Given the description of an element on the screen output the (x, y) to click on. 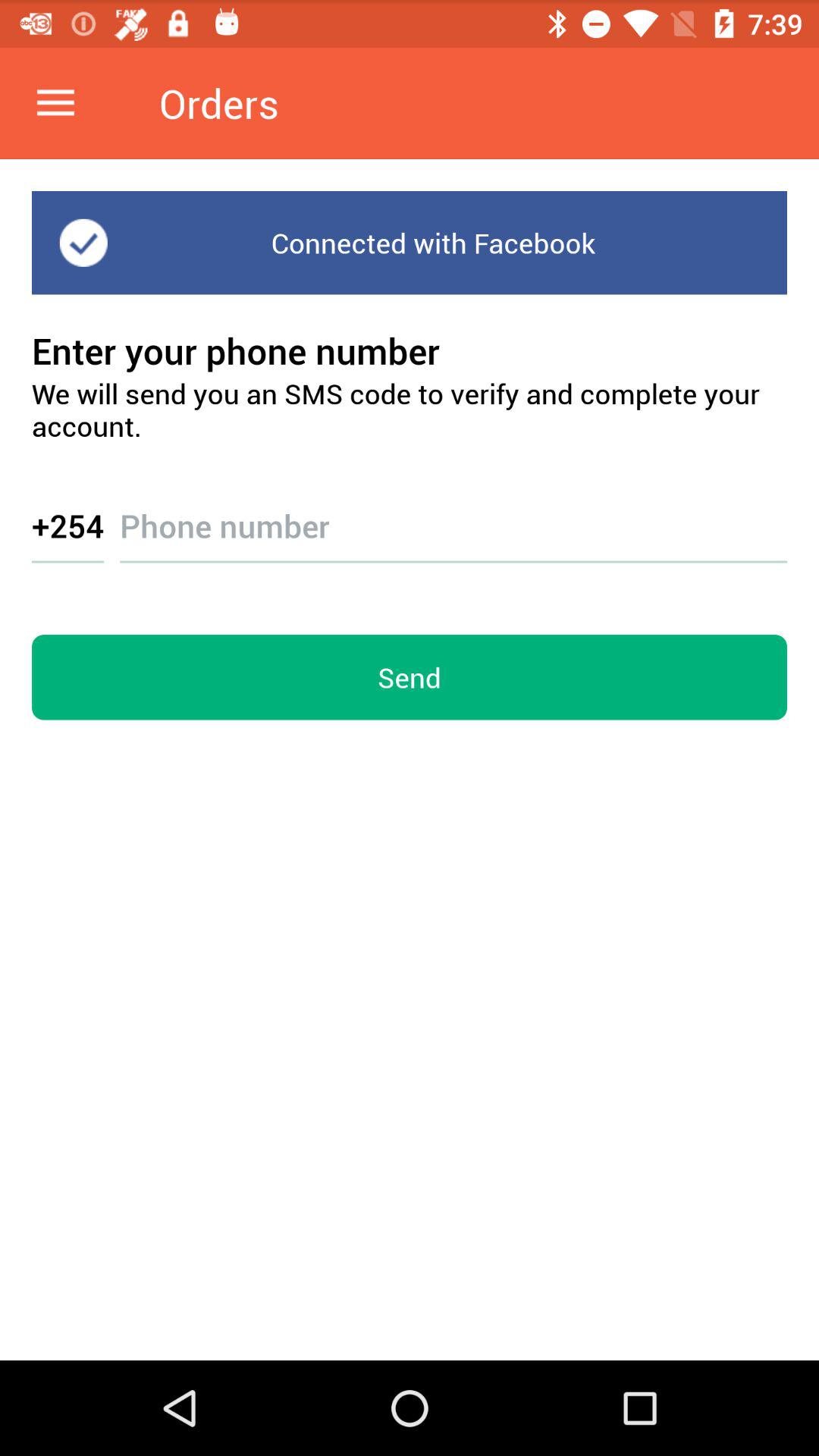
turn on icon to the right of +254 item (453, 511)
